Given the description of an element on the screen output the (x, y) to click on. 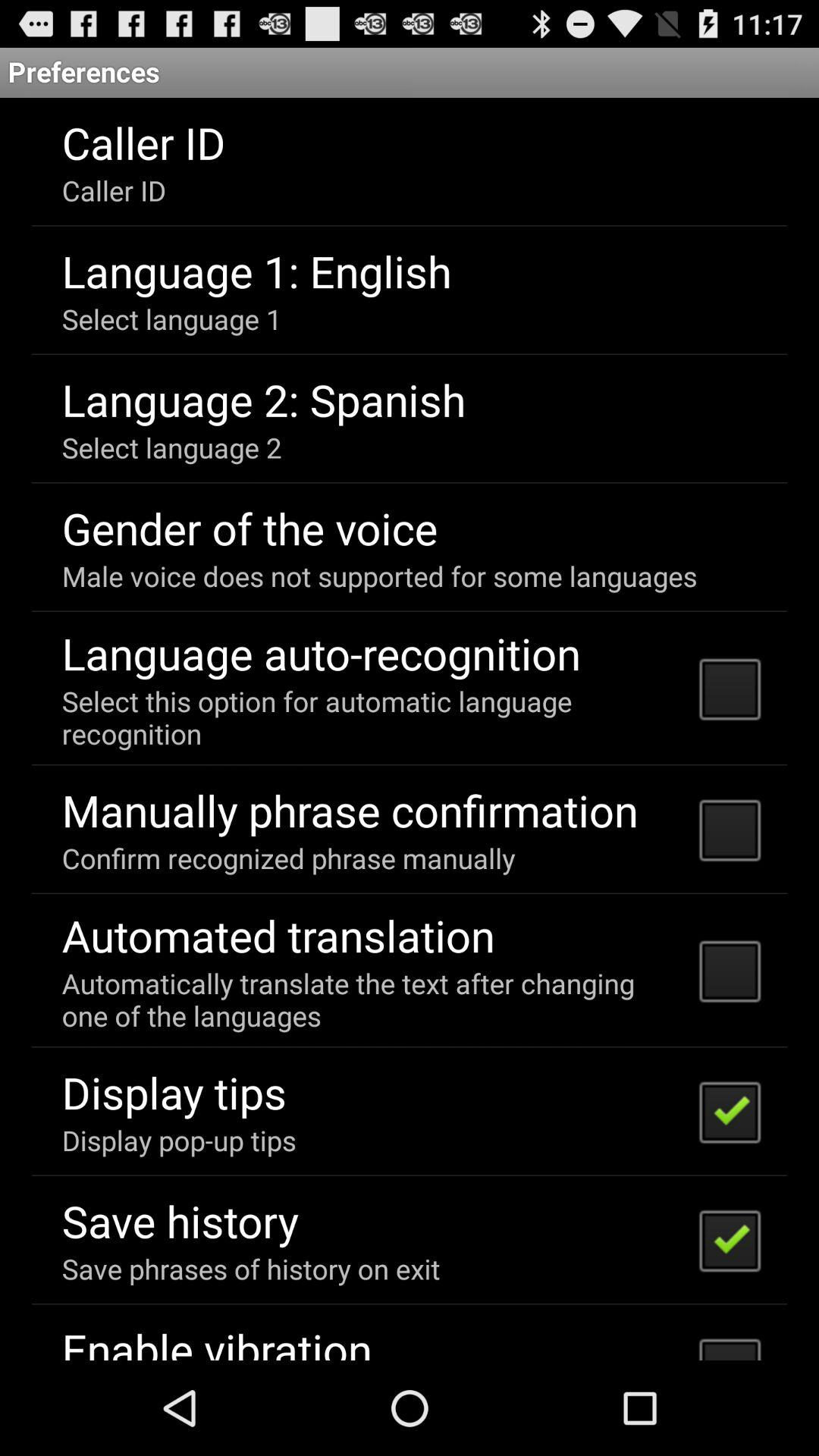
turn off the app below save phrases of (216, 1340)
